Given the description of an element on the screen output the (x, y) to click on. 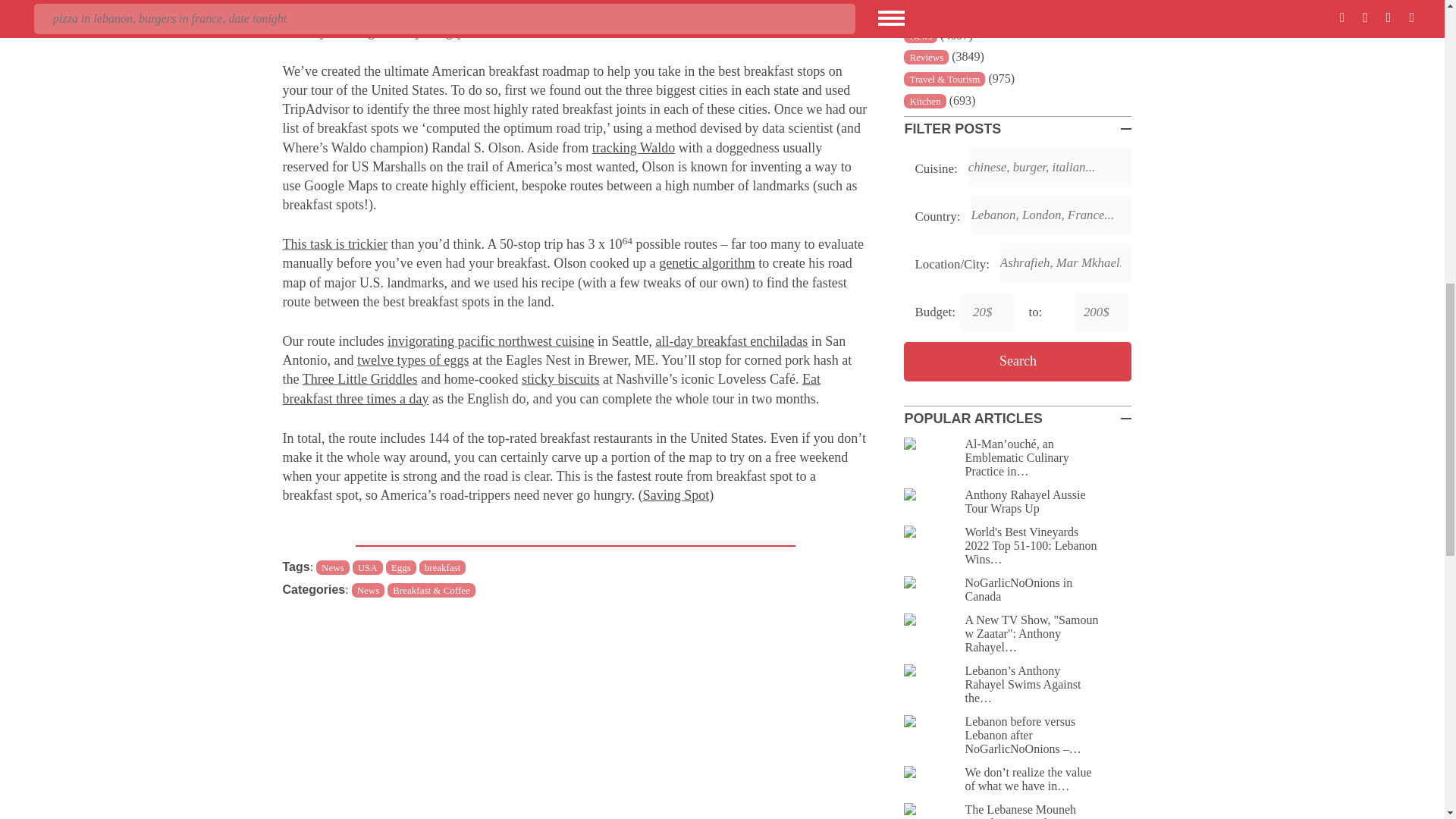
Search (1017, 361)
